Given the description of an element on the screen output the (x, y) to click on. 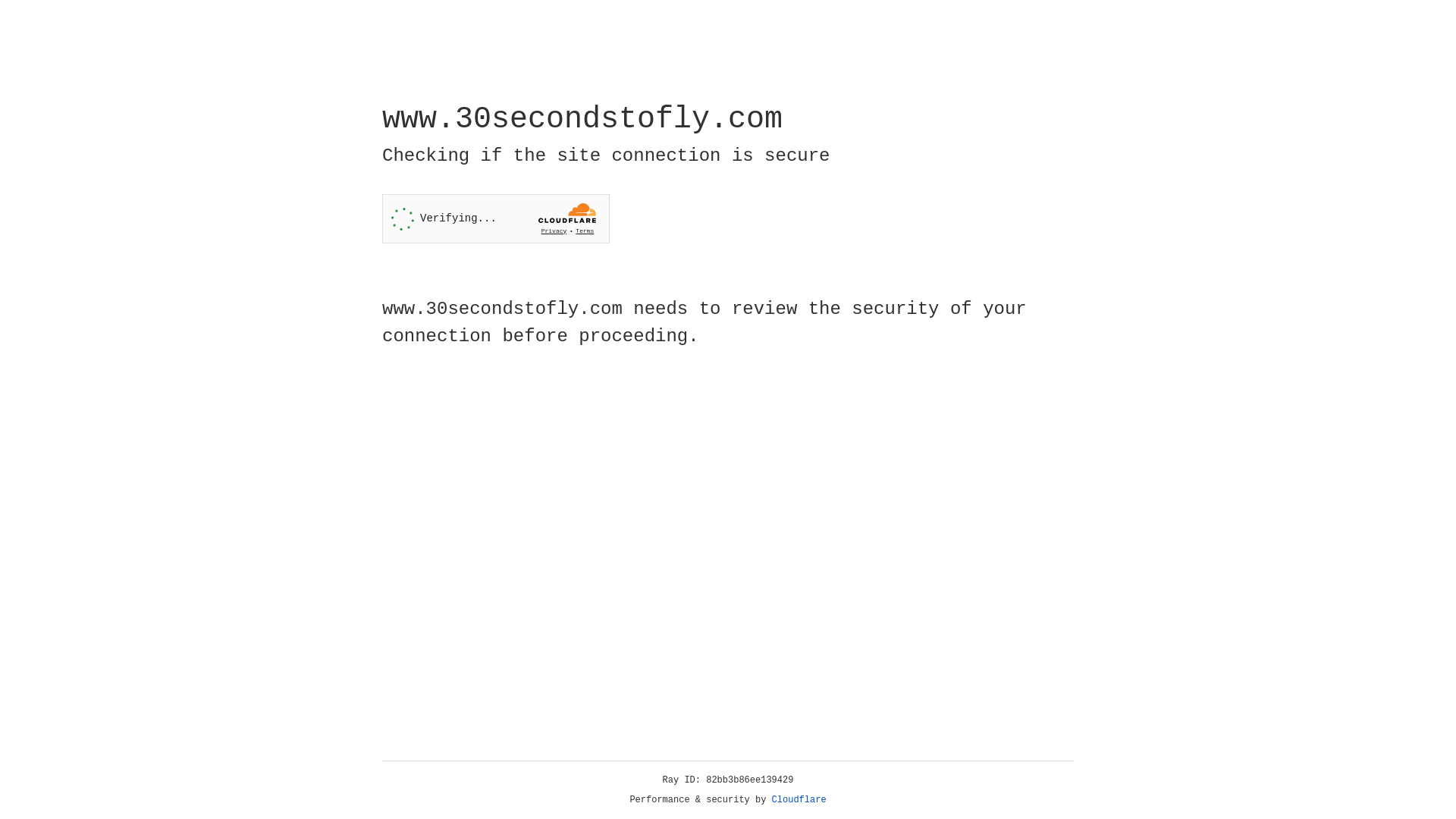
Widget containing a Cloudflare security challenge Element type: hover (495, 218)
Cloudflare Element type: text (798, 799)
